Given the description of an element on the screen output the (x, y) to click on. 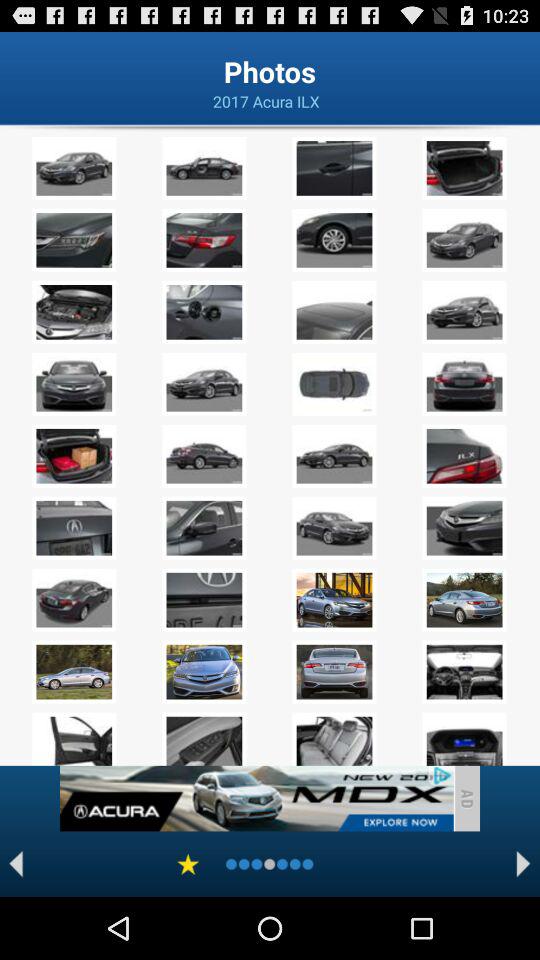
scroll back one page (16, 864)
